Given the description of an element on the screen output the (x, y) to click on. 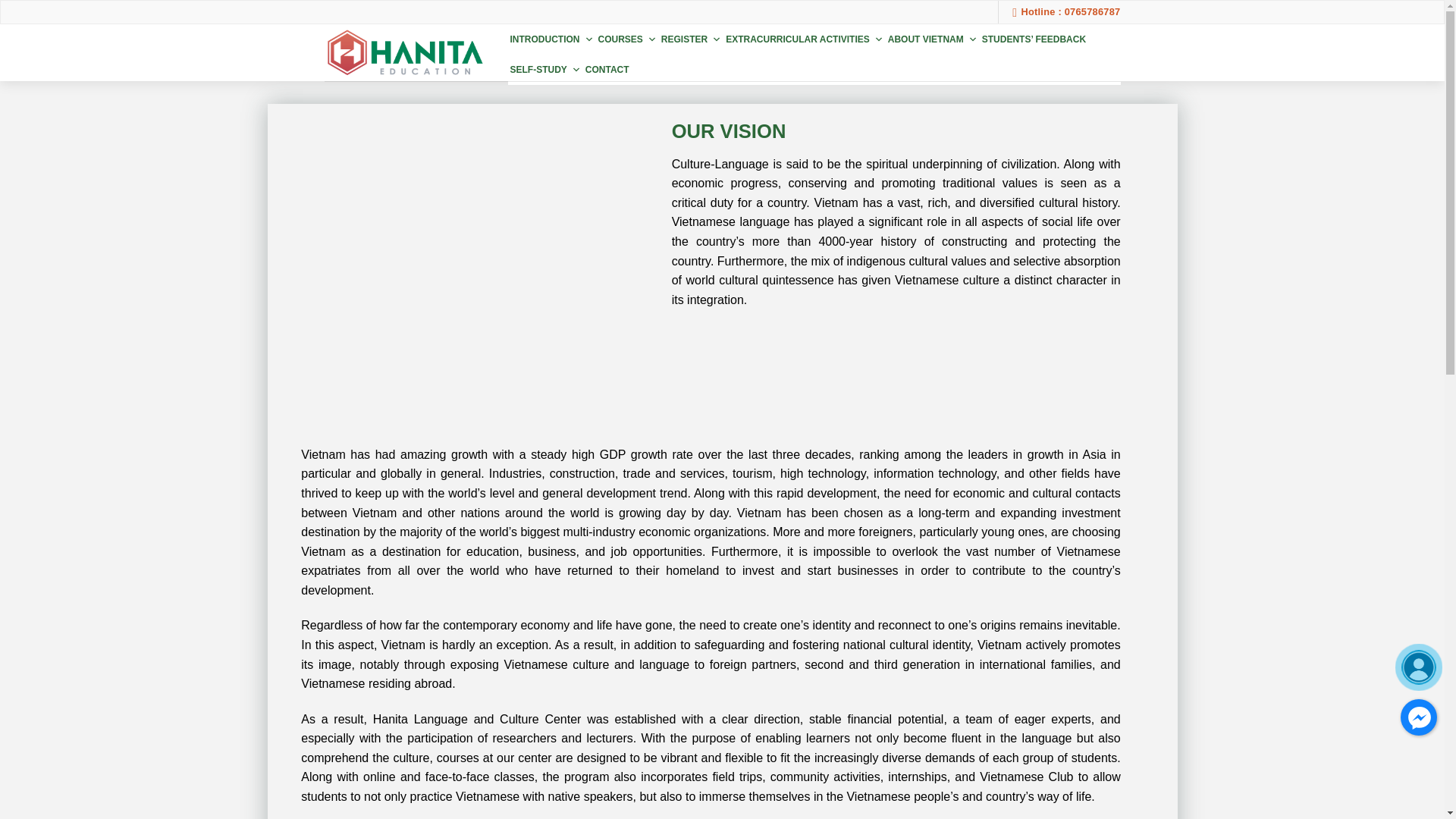
HANITA (404, 52)
Hotline : 0765786787 (1065, 11)
COURSES (627, 39)
INTRODUCTION (551, 39)
Hotline : 0765786787 (1065, 11)
